Given the description of an element on the screen output the (x, y) to click on. 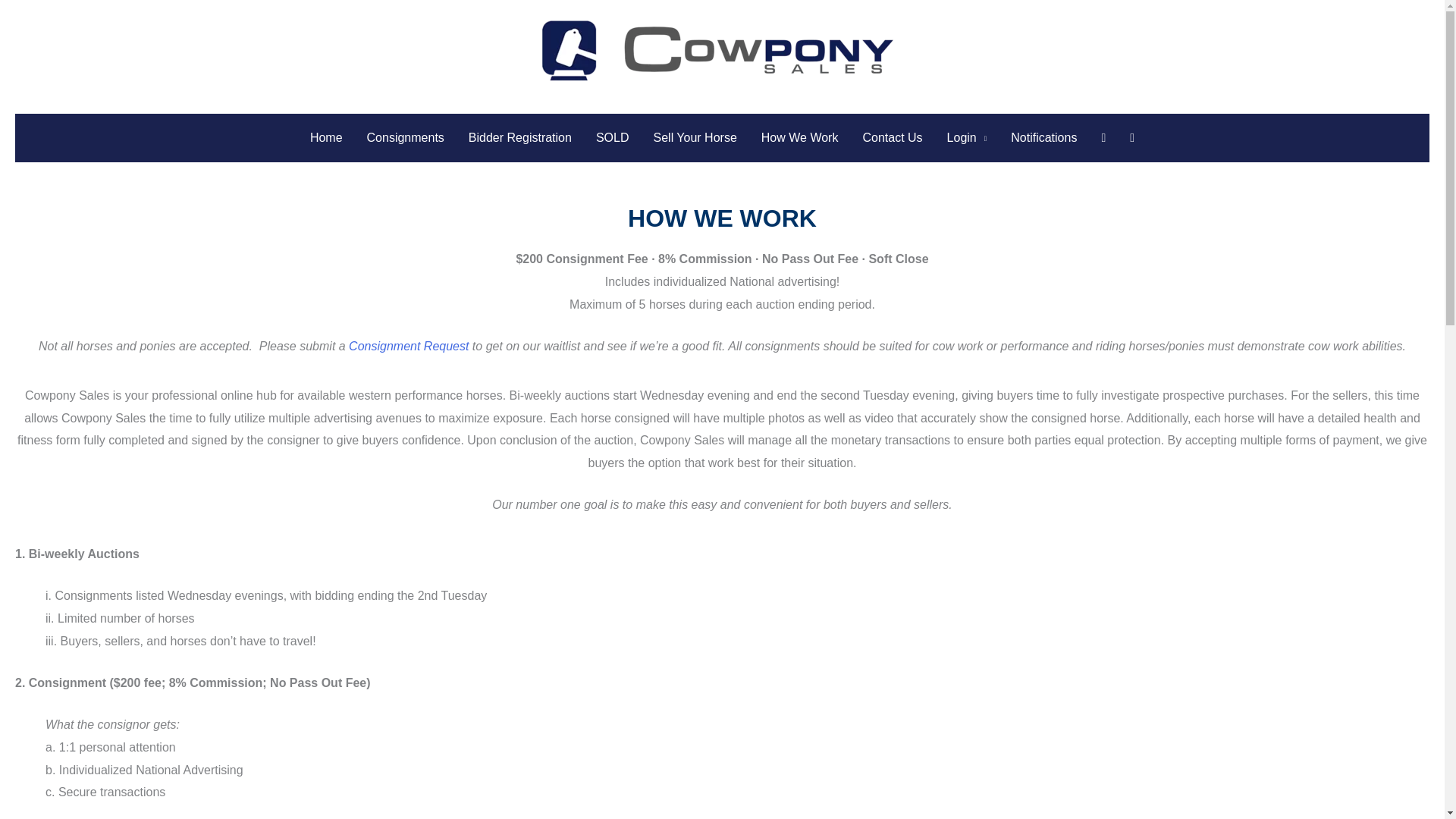
Home (326, 137)
Notifications (1043, 137)
Consignments (406, 137)
SOLD (612, 137)
Bidder Registration (520, 137)
Consignment Request (408, 345)
How We Work (799, 137)
Sell Your Horse (695, 137)
Contact Us (892, 137)
Login (966, 137)
